Given the description of an element on the screen output the (x, y) to click on. 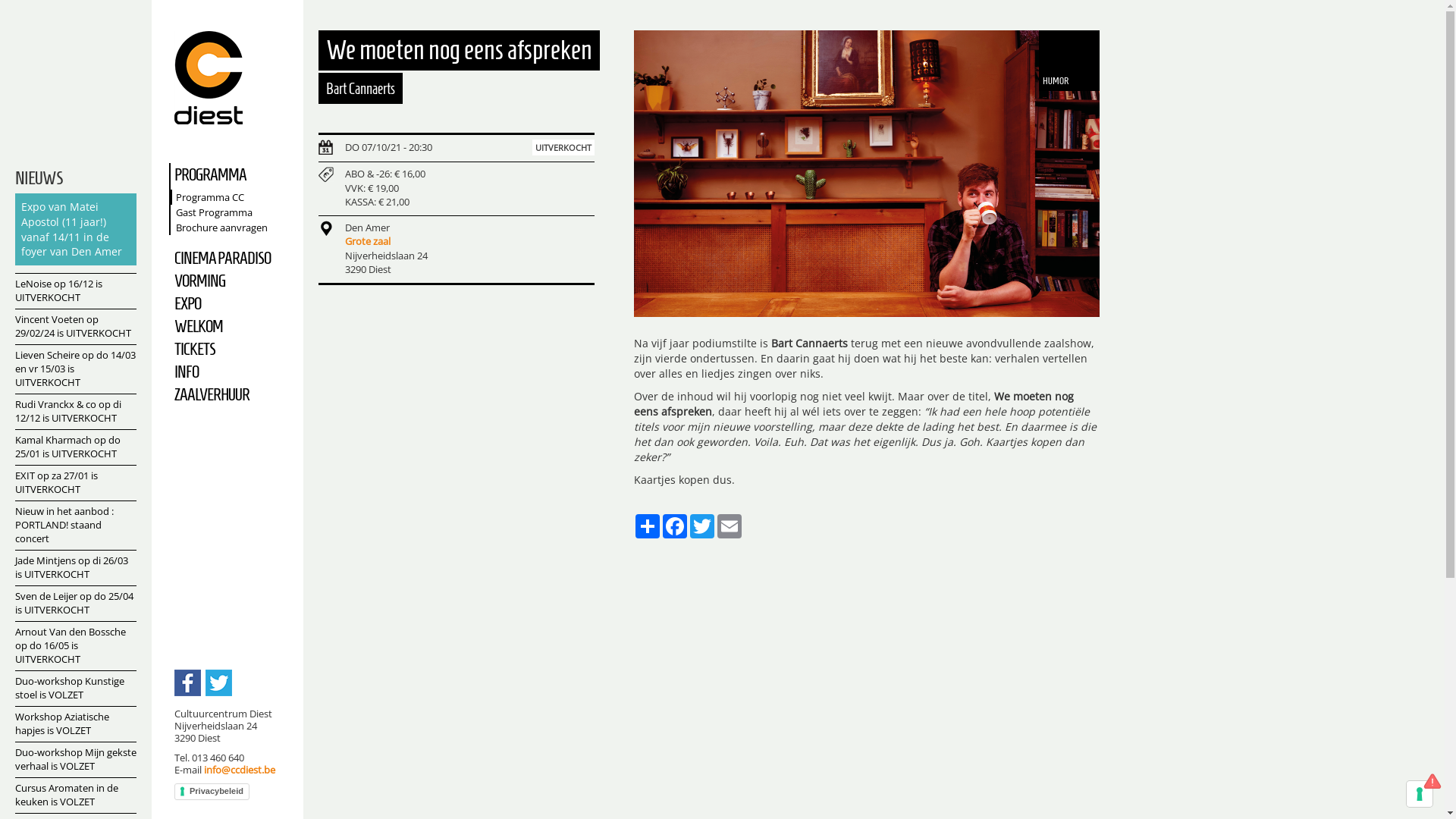
Grote zaal Element type: text (367, 240)
Duo-workshop Kunstige stoel is VOLZET Element type: text (75, 688)
CINEMA PARADISO Element type: text (232, 257)
Arnout Van den Bossche op do 16/05 is UITVERKOCHT Element type: text (75, 645)
Vincent Voeten op 29/02/24 is UITVERKOCHT Element type: text (75, 326)
ZAALVERHUUR Element type: text (232, 393)
Twitter Element type: text (701, 526)
Deel Element type: text (647, 526)
Jade Mintjens op di 26/03 is UITVERKOCHT Element type: text (75, 567)
Rudi Vranckx & co op di 12/12 is UITVERKOCHT Element type: text (75, 411)
LeNoise op 16/12 is UITVERKOCHT Element type: text (75, 290)
PROGRAMMA Element type: text (232, 174)
EXPO Element type: text (232, 302)
VORMING Element type: text (232, 280)
WELKOM Element type: text (232, 325)
Workshop Aziatische hapjes is VOLZET Element type: text (75, 723)
Duo-workshop Mijn gekste verhaal is VOLZET Element type: text (75, 759)
UITVERKOCHT Element type: text (563, 147)
info@ccdiest.be Element type: text (239, 769)
Nieuw in het aanbod : PORTLAND! staand concert Element type: text (75, 524)
Lieven Scheire op do 14/03 en vr 15/03 is UITVERKOCHT Element type: text (75, 368)
Gast Programma Element type: text (232, 211)
Kamal Kharmach op do 25/01 is UITVERKOCHT Element type: text (75, 446)
NIEUWS Element type: text (38, 178)
INFO Element type: text (232, 371)
Brochure aanvragen Element type: text (232, 227)
Sven de Leijer op do 25/04 is UITVERKOCHT Element type: text (75, 603)
Programma CC Element type: text (232, 196)
Cursus Aromaten in de keuken is VOLZET Element type: text (75, 794)
Privacybeleid Element type: text (211, 791)
Email Element type: text (729, 526)
Facebook Element type: text (674, 526)
TICKETS Element type: text (232, 348)
EXIT op za 27/01 is UITVERKOCHT Element type: text (75, 482)
